Given the description of an element on the screen output the (x, y) to click on. 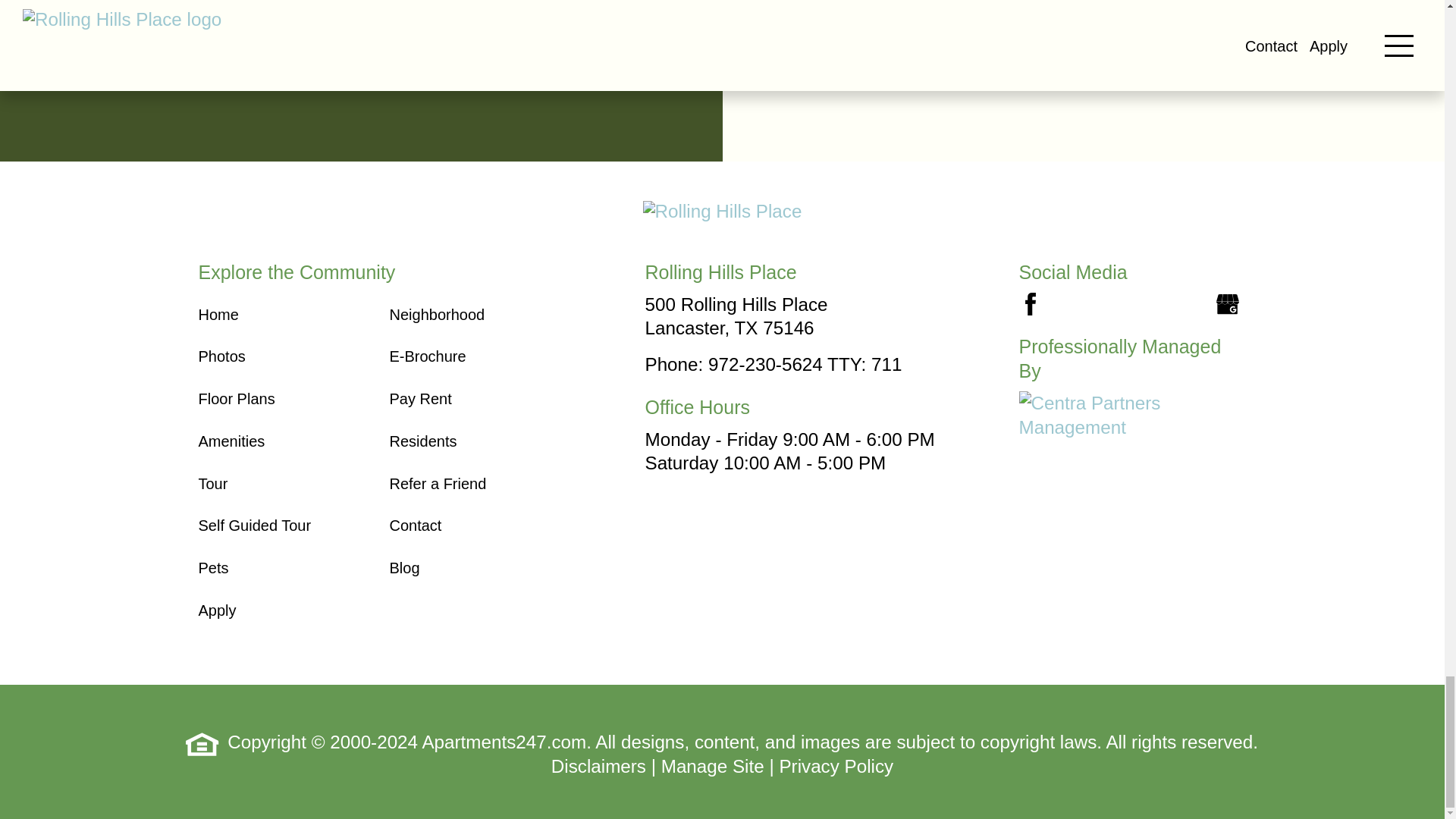
Manage Site (712, 765)
schedule a tour (360, 62)
Home (218, 314)
Centra Partners Management (1094, 414)
Photos (222, 356)
Floor Plans (236, 398)
